Given the description of an element on the screen output the (x, y) to click on. 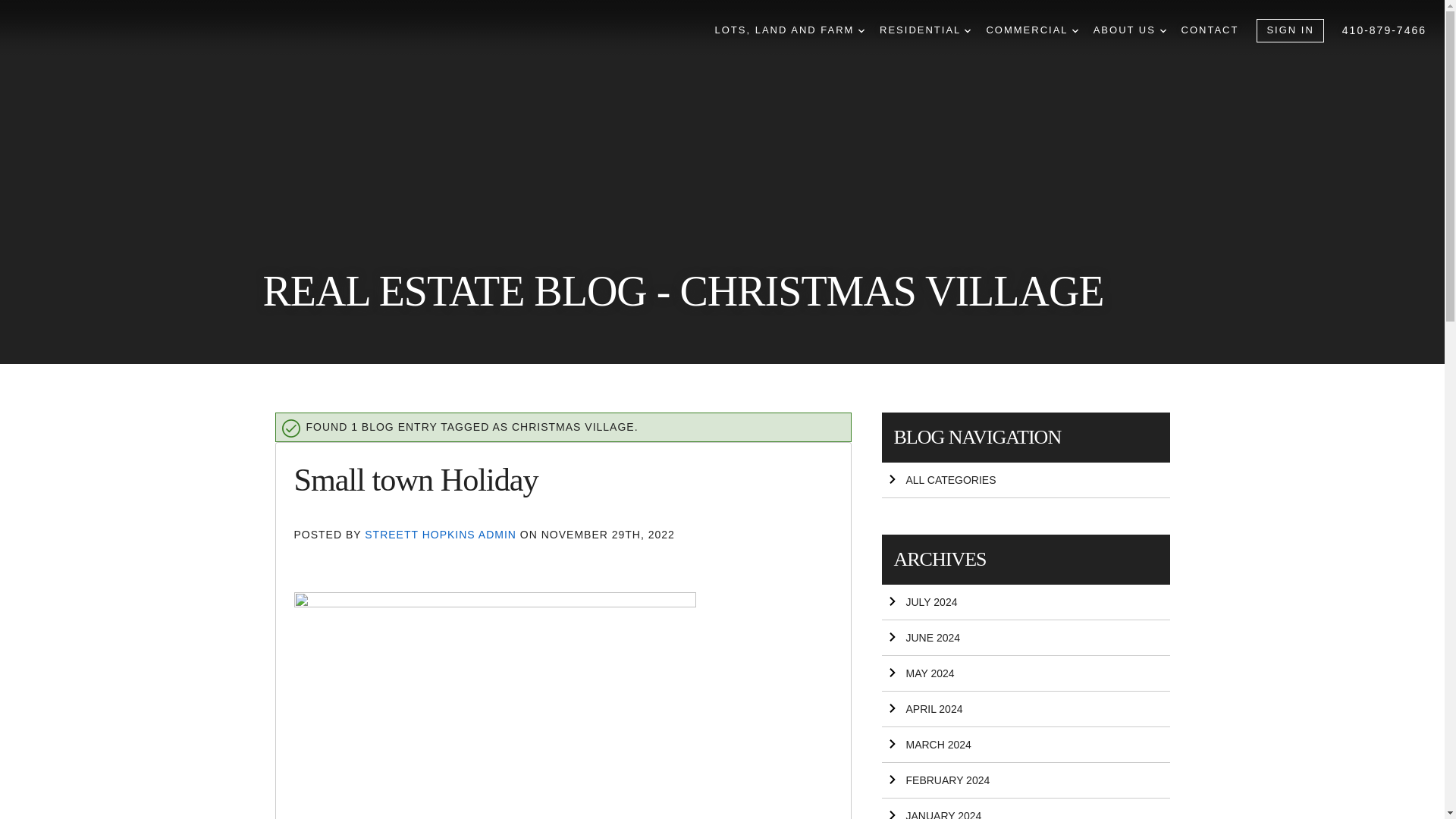
Small town Holiday (416, 479)
DROPDOWN ARROW (1163, 30)
STREETT HOPKINS ADMIN (442, 534)
ABOUT US DROPDOWN ARROW (1129, 30)
DROPDOWN ARROW (861, 30)
DROPDOWN ARROW (967, 30)
CONTACT (1209, 30)
COMMERCIAL DROPDOWN ARROW (1031, 30)
RESIDENTIAL DROPDOWN ARROW (925, 30)
SIGN IN (1289, 30)
LOTS, LAND AND FARM DROPDOWN ARROW (789, 30)
410-879-7466 (1384, 29)
DROPDOWN ARROW (1074, 30)
